Given the description of an element on the screen output the (x, y) to click on. 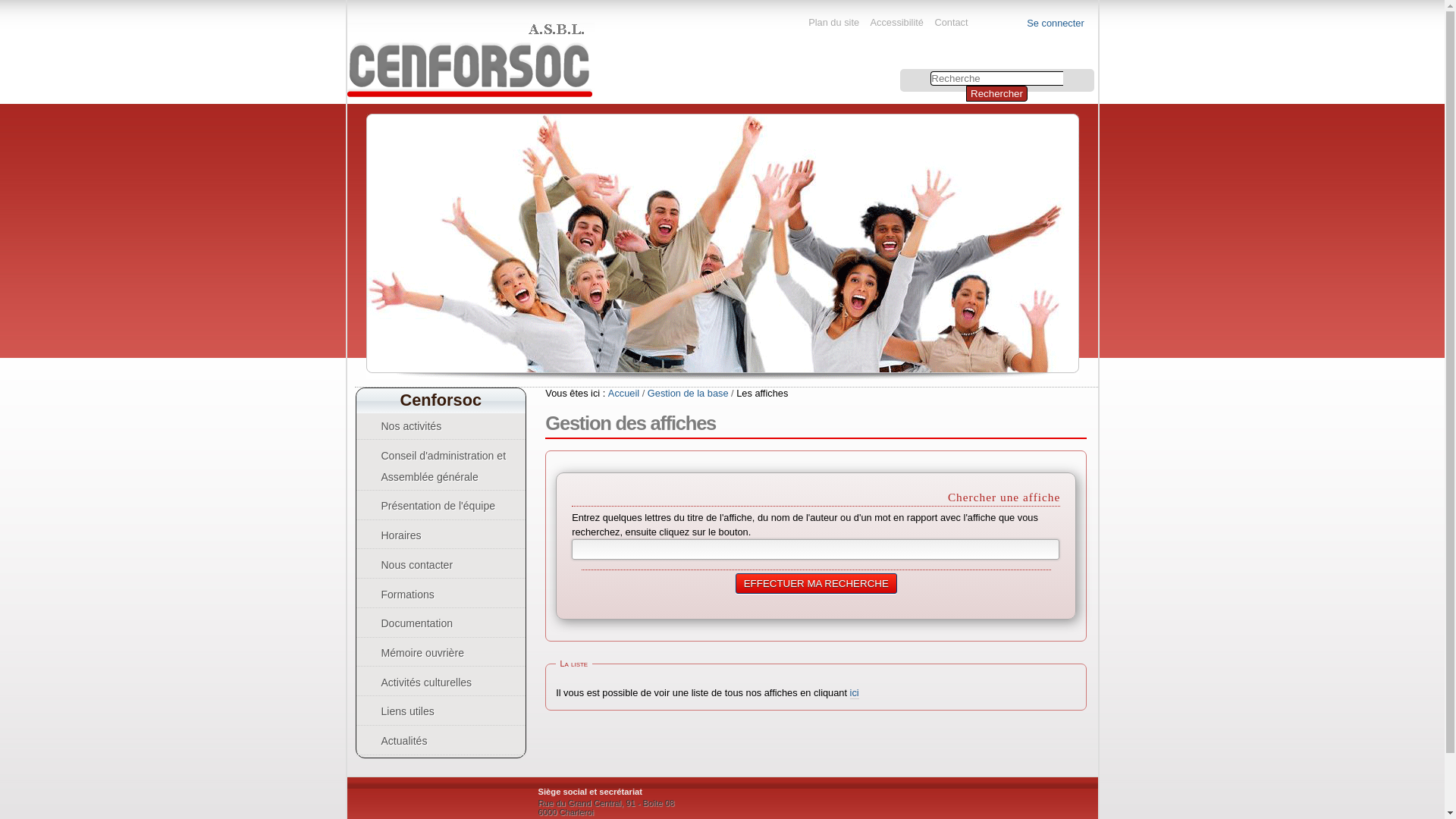
Documentation Element type: text (440, 622)
Horaires Element type: text (440, 535)
Plan du site Element type: text (833, 22)
Recherche Element type: hover (996, 78)
Contact Element type: text (950, 22)
Liens utiles Element type: text (440, 710)
Formations Element type: text (440, 594)
Nous contacter Element type: text (440, 564)
Accueil Element type: text (623, 392)
Se connecter Element type: text (1054, 22)
ici Element type: text (854, 693)
Gestion de la base Element type: text (687, 392)
Rechercher Element type: text (996, 93)
Effectuer ma recherche Element type: text (816, 583)
